Given the description of an element on the screen output the (x, y) to click on. 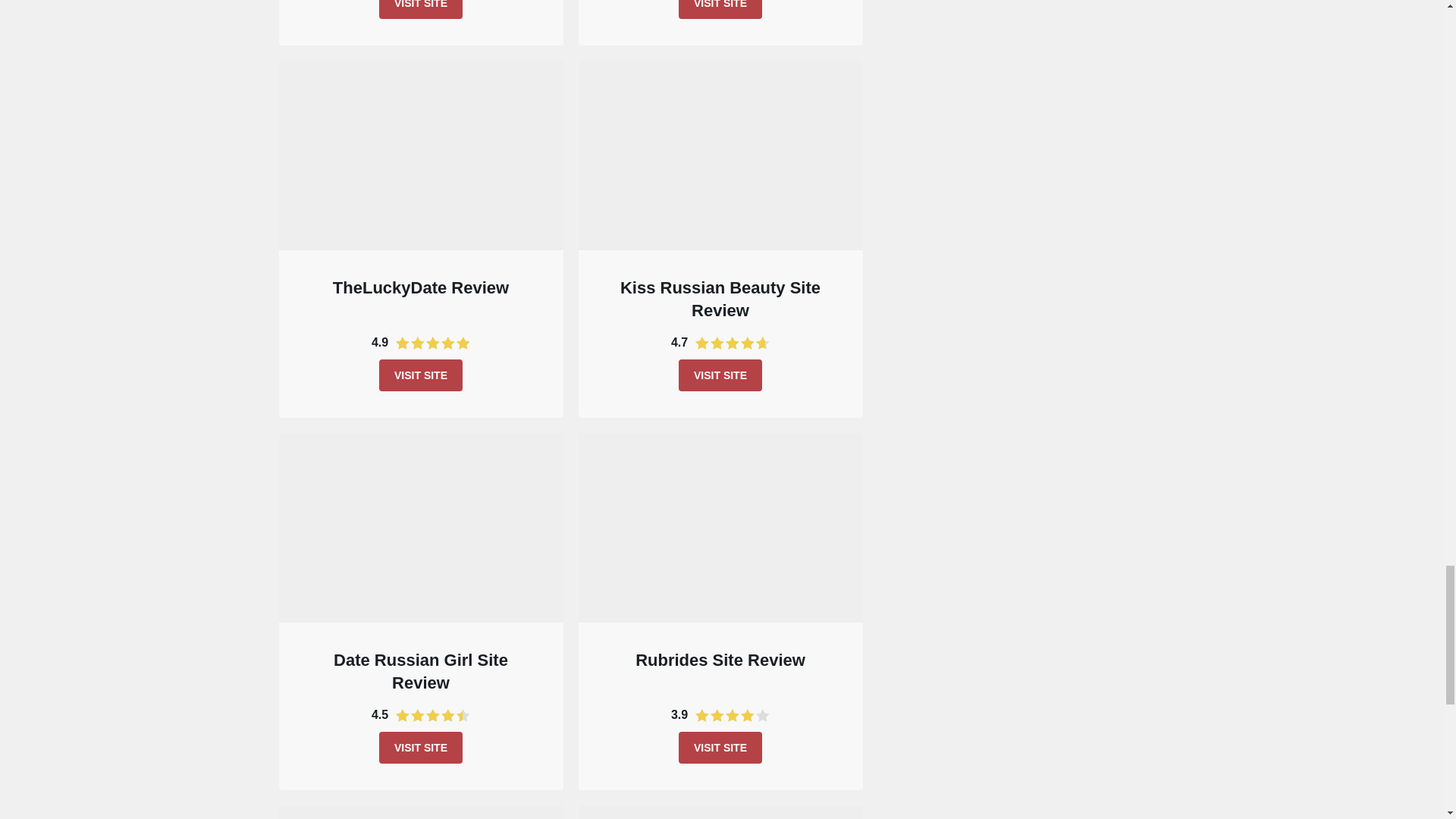
Our Score (732, 715)
Our Score (433, 342)
Our Score (433, 715)
Our Score (732, 342)
